Given the description of an element on the screen output the (x, y) to click on. 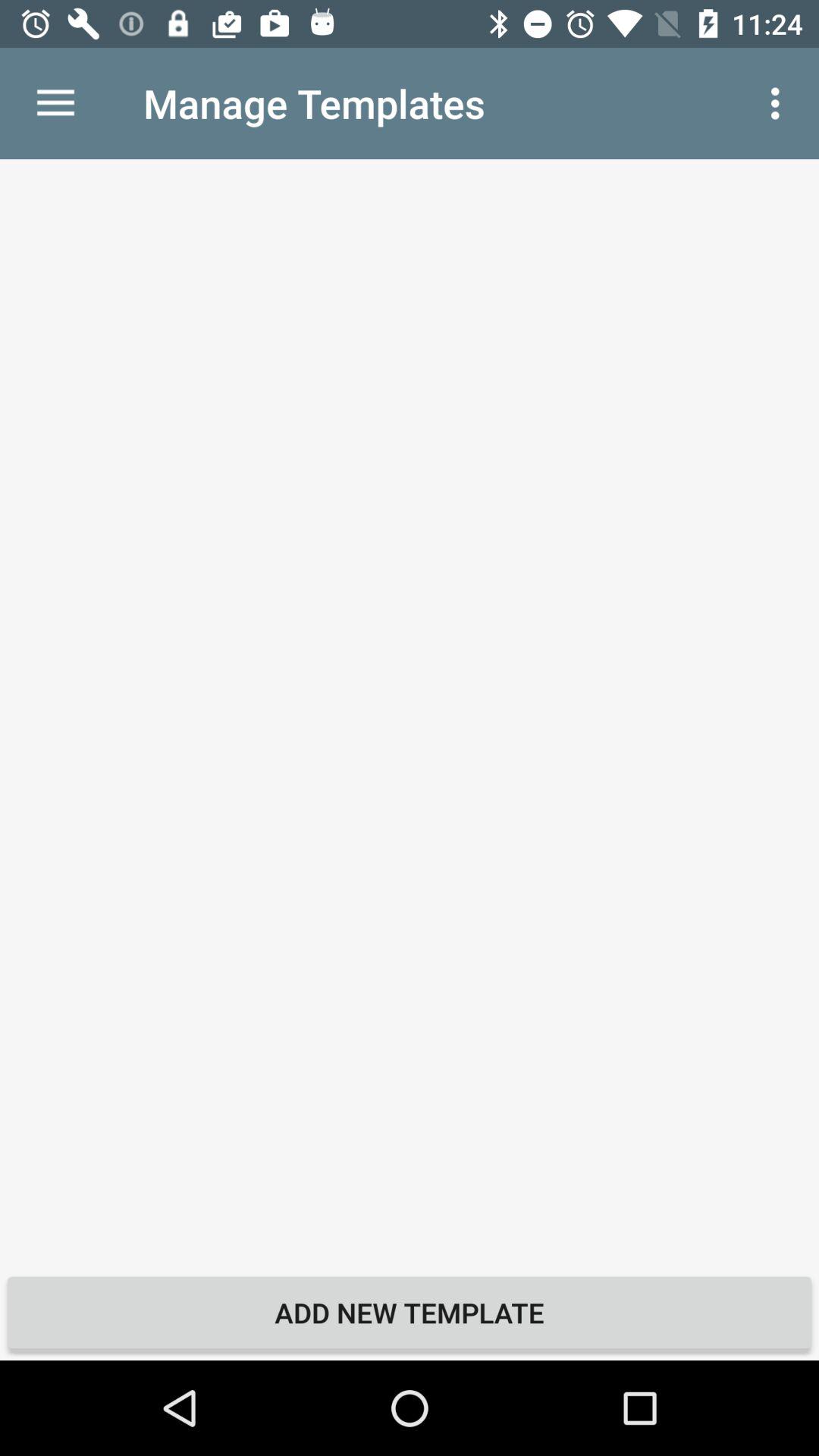
turn on item next to manage templates item (55, 103)
